Given the description of an element on the screen output the (x, y) to click on. 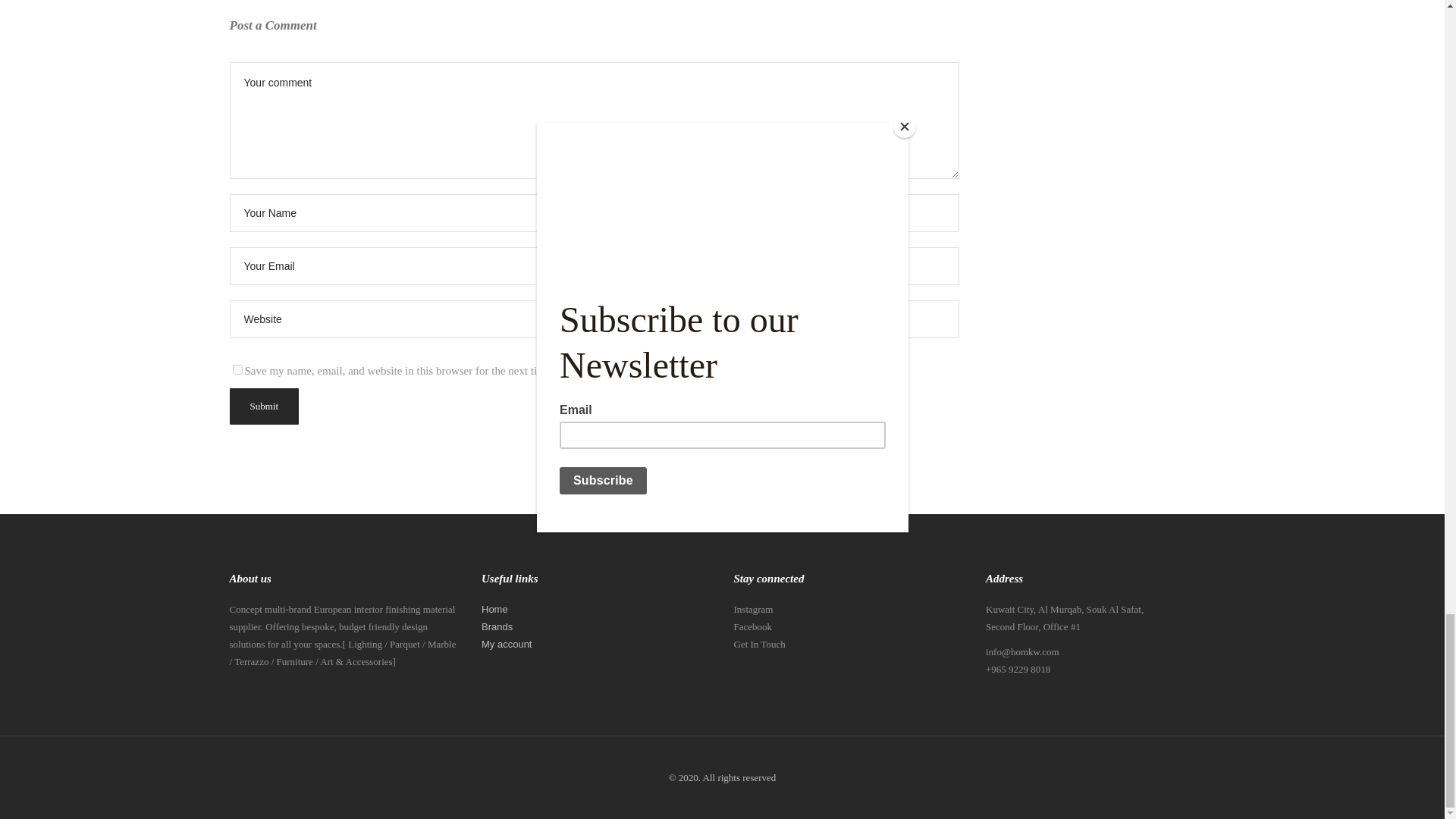
yes (236, 369)
Submit (263, 406)
